Given the description of an element on the screen output the (x, y) to click on. 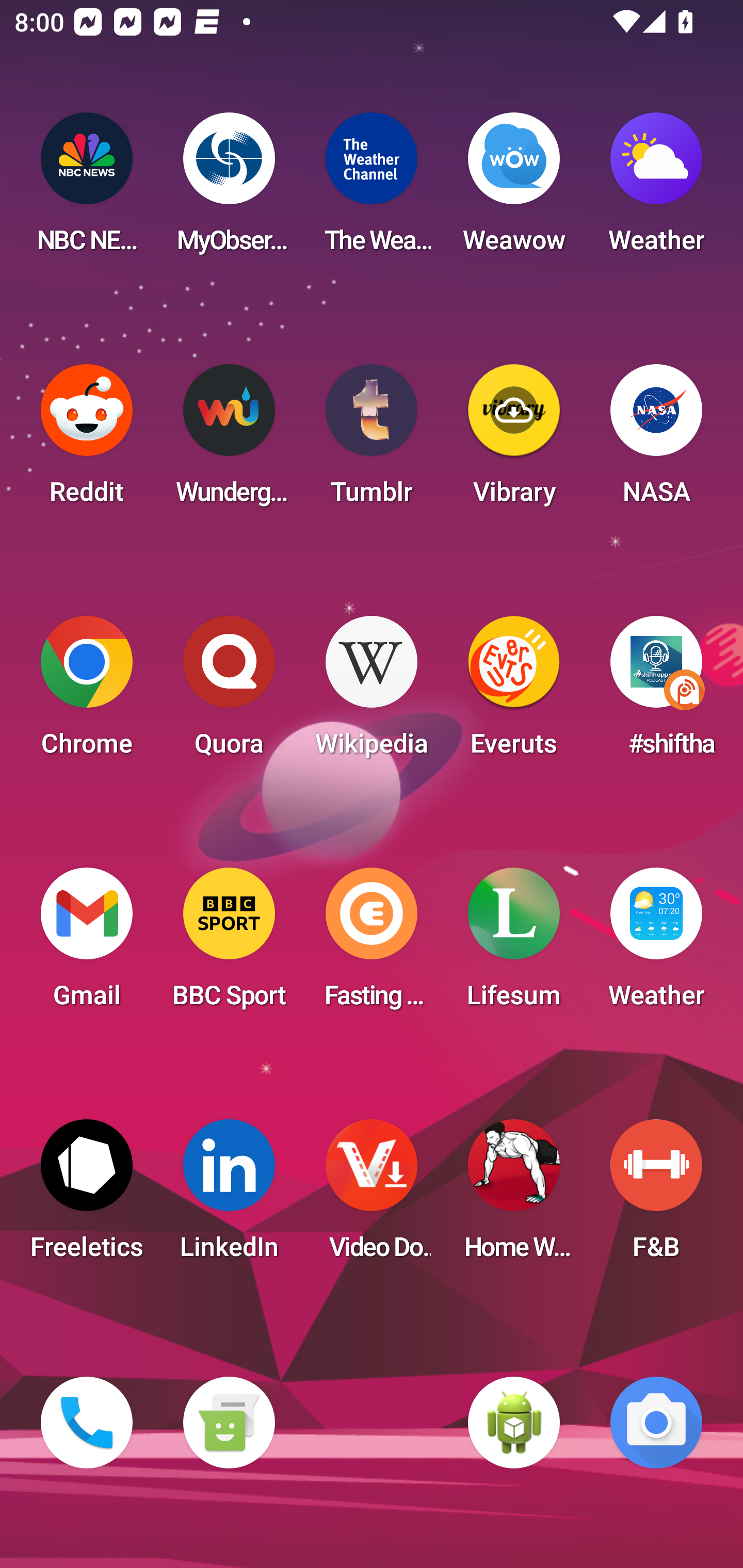
NBC NEWS (86, 188)
MyObservatory (228, 188)
The Weather Channel (371, 188)
Weawow (513, 188)
Weather (656, 188)
Reddit (86, 440)
Wunderground (228, 440)
Tumblr (371, 440)
Vibrary (513, 440)
NASA (656, 440)
Chrome (86, 692)
Quora (228, 692)
Wikipedia (371, 692)
Everuts (513, 692)
#shifthappens in the Digital Workplace Podcast (656, 692)
Gmail (86, 943)
BBC Sport (228, 943)
Fasting Coach (371, 943)
Lifesum (513, 943)
Weather (656, 943)
Freeletics (86, 1195)
LinkedIn (228, 1195)
Video Downloader & Ace Player (371, 1195)
Home Workout (513, 1195)
F&B (656, 1195)
Phone (86, 1422)
Messaging (228, 1422)
WebView Browser Tester (513, 1422)
Camera (656, 1422)
